Given the description of an element on the screen output the (x, y) to click on. 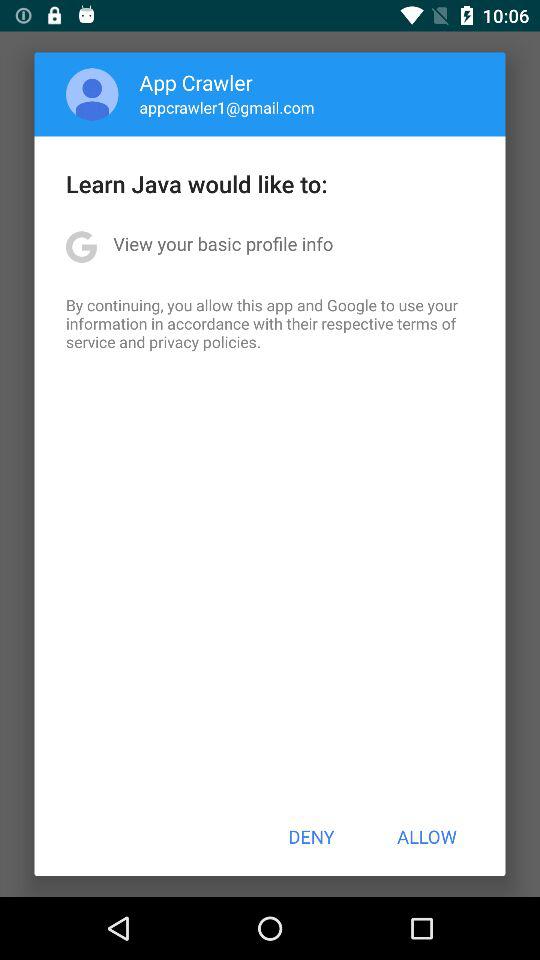
turn off the deny icon (311, 836)
